Given the description of an element on the screen output the (x, y) to click on. 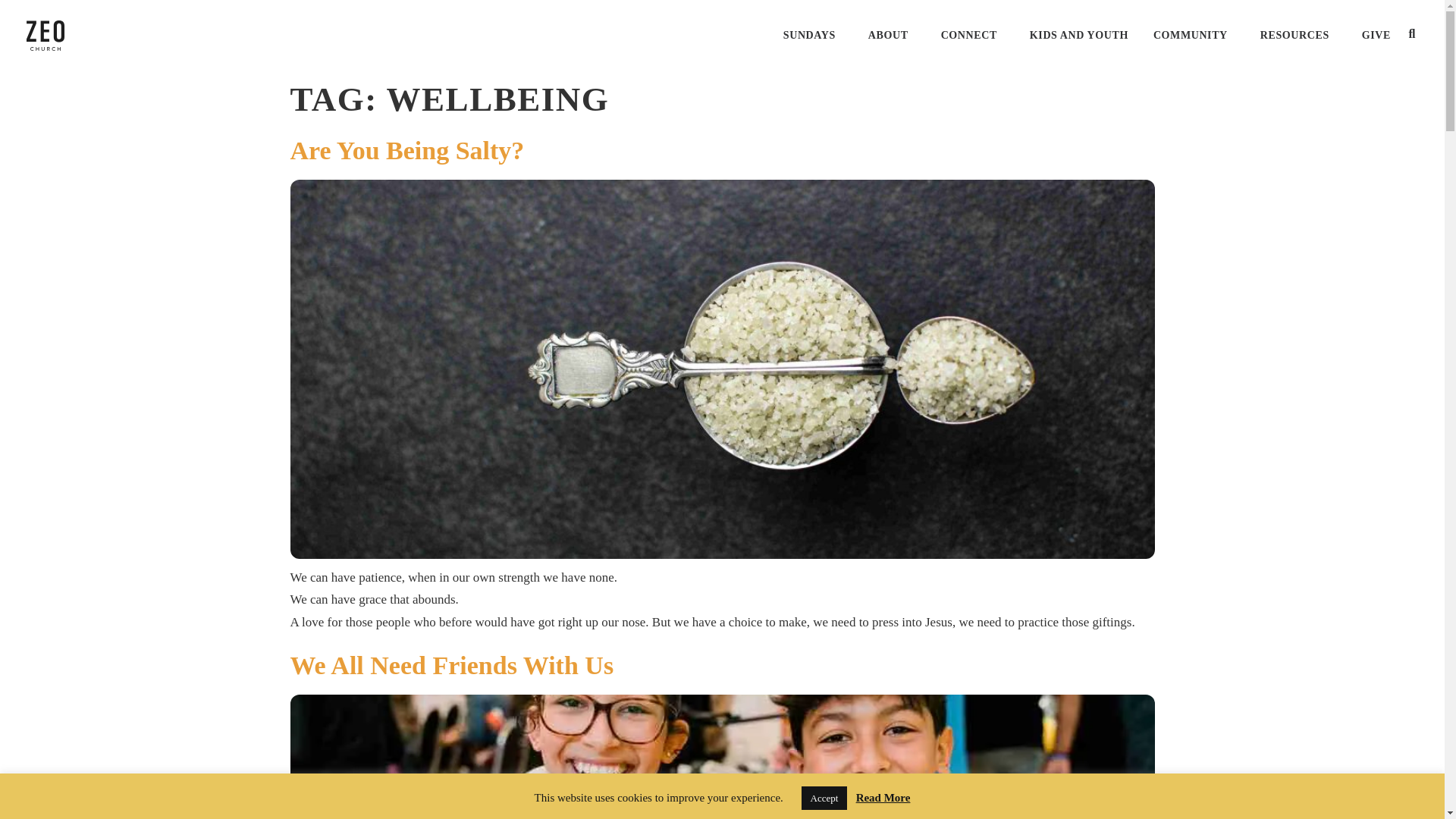
CONNECT (972, 35)
KIDS AND YOUTH (1078, 35)
GIVE (1375, 35)
SUNDAYS (813, 35)
COMMUNITY (1193, 35)
RESOURCES (1298, 35)
ABOUT (891, 35)
